Given the description of an element on the screen output the (x, y) to click on. 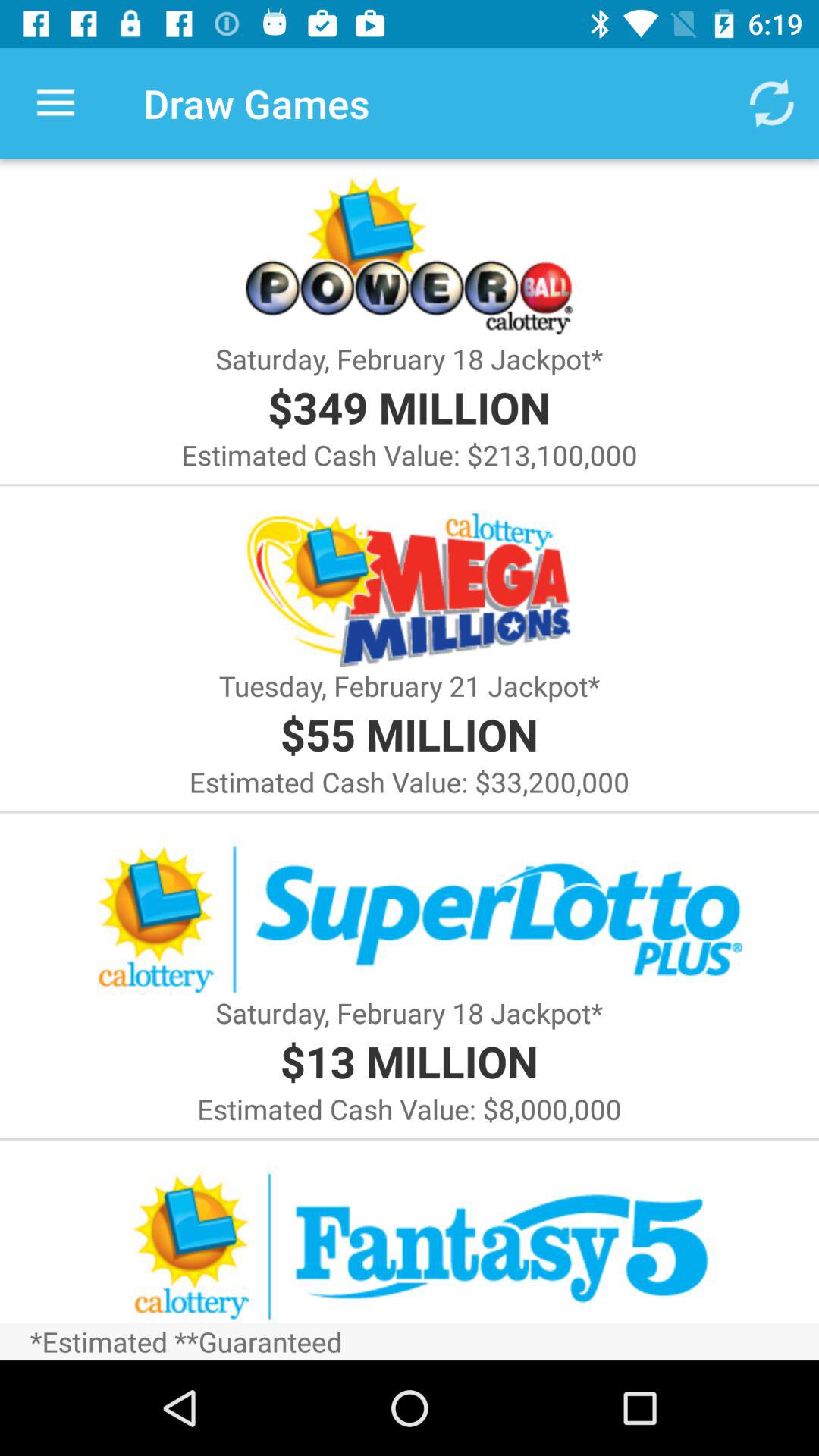
click item below the tuesday february 21 icon (409, 733)
